Given the description of an element on the screen output the (x, y) to click on. 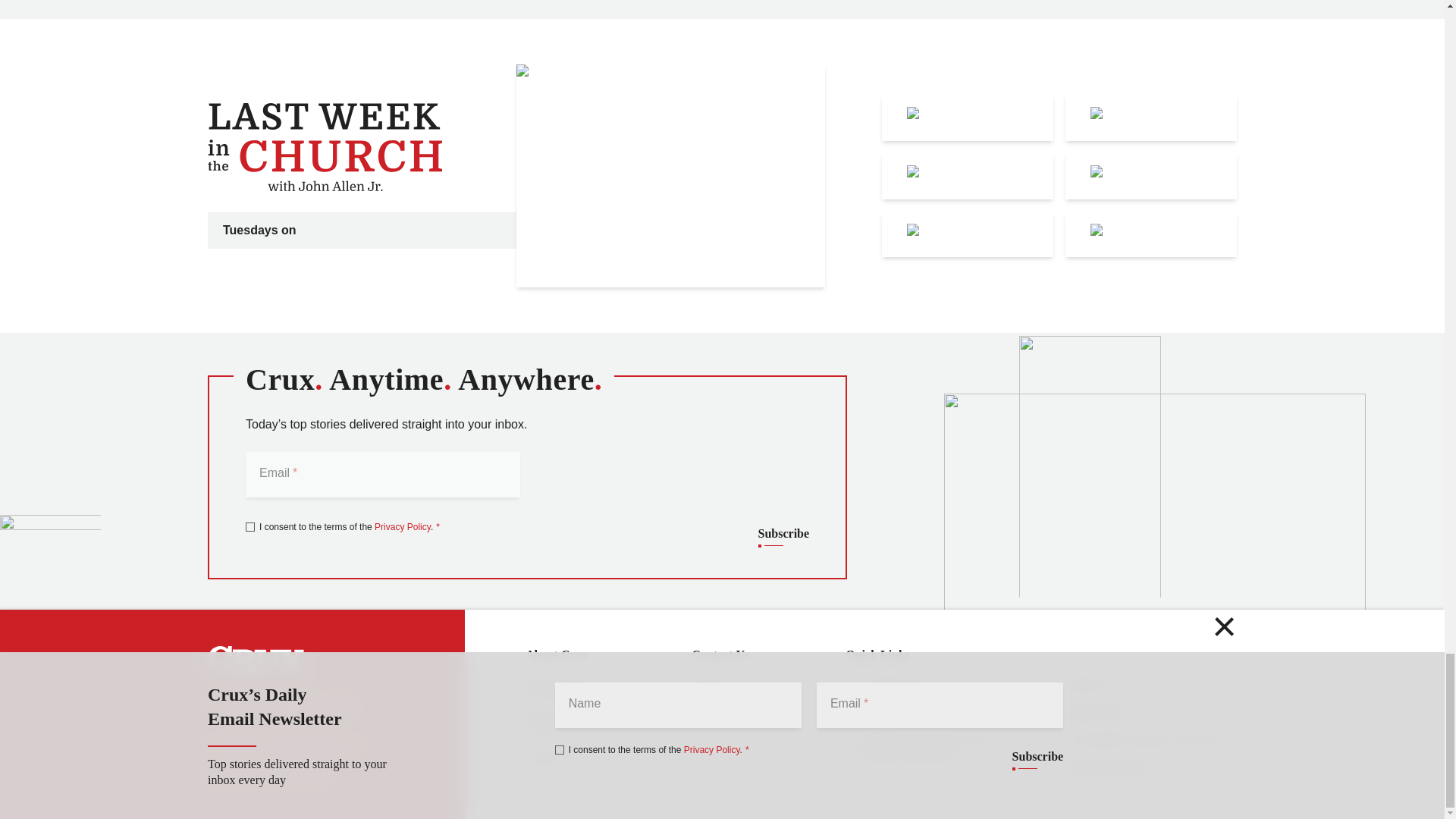
required (435, 526)
required (293, 472)
true (250, 526)
